Given the description of an element on the screen output the (x, y) to click on. 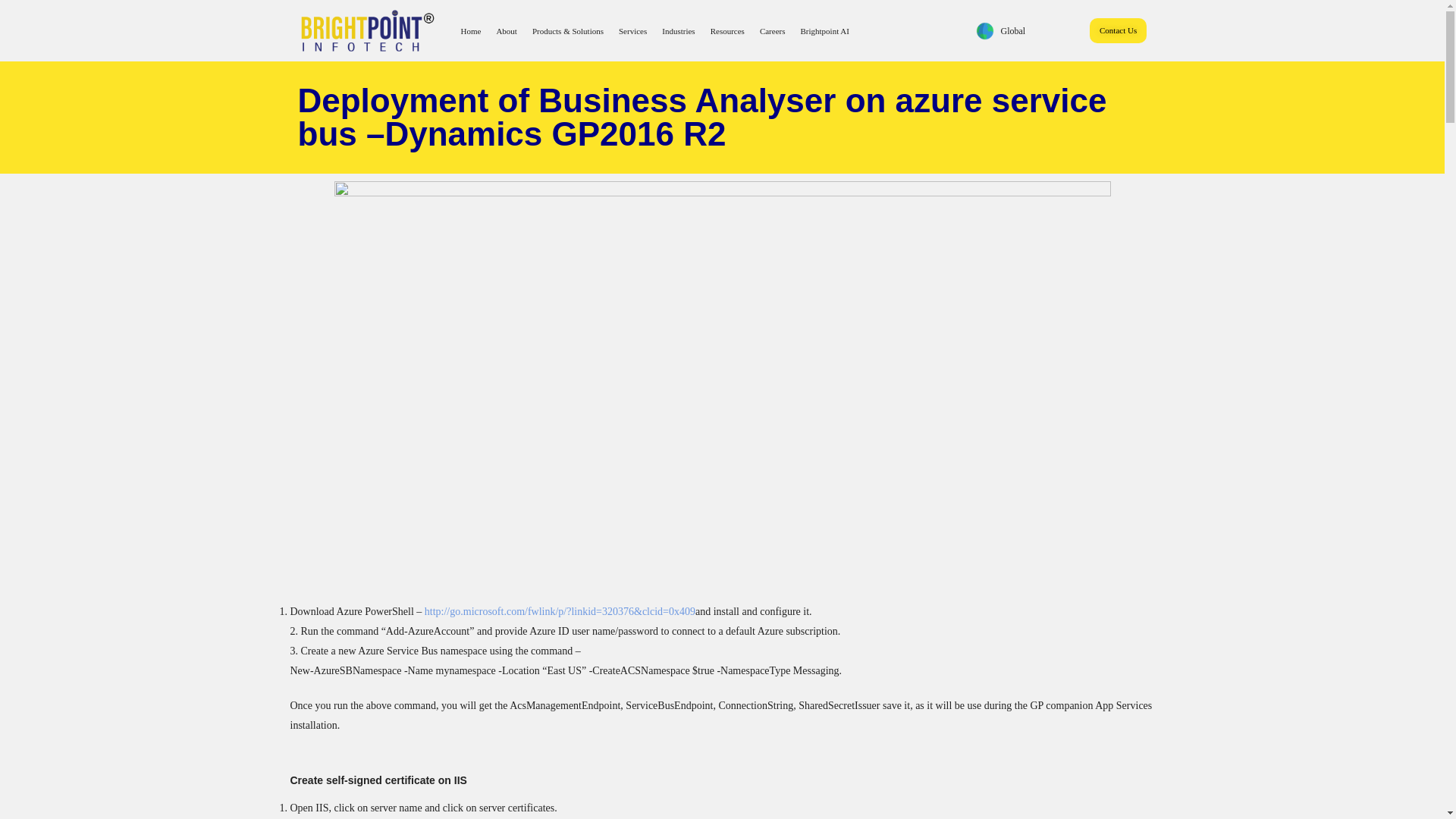
Home (469, 30)
Industries (677, 30)
Services (632, 30)
About (505, 30)
